Given the description of an element on the screen output the (x, y) to click on. 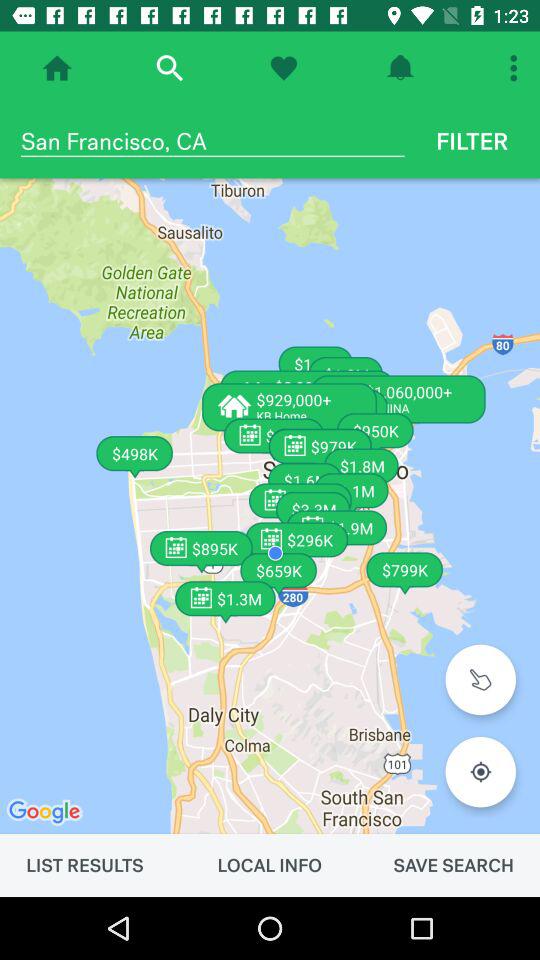
open the item to the left of filter icon (212, 141)
